Given the description of an element on the screen output the (x, y) to click on. 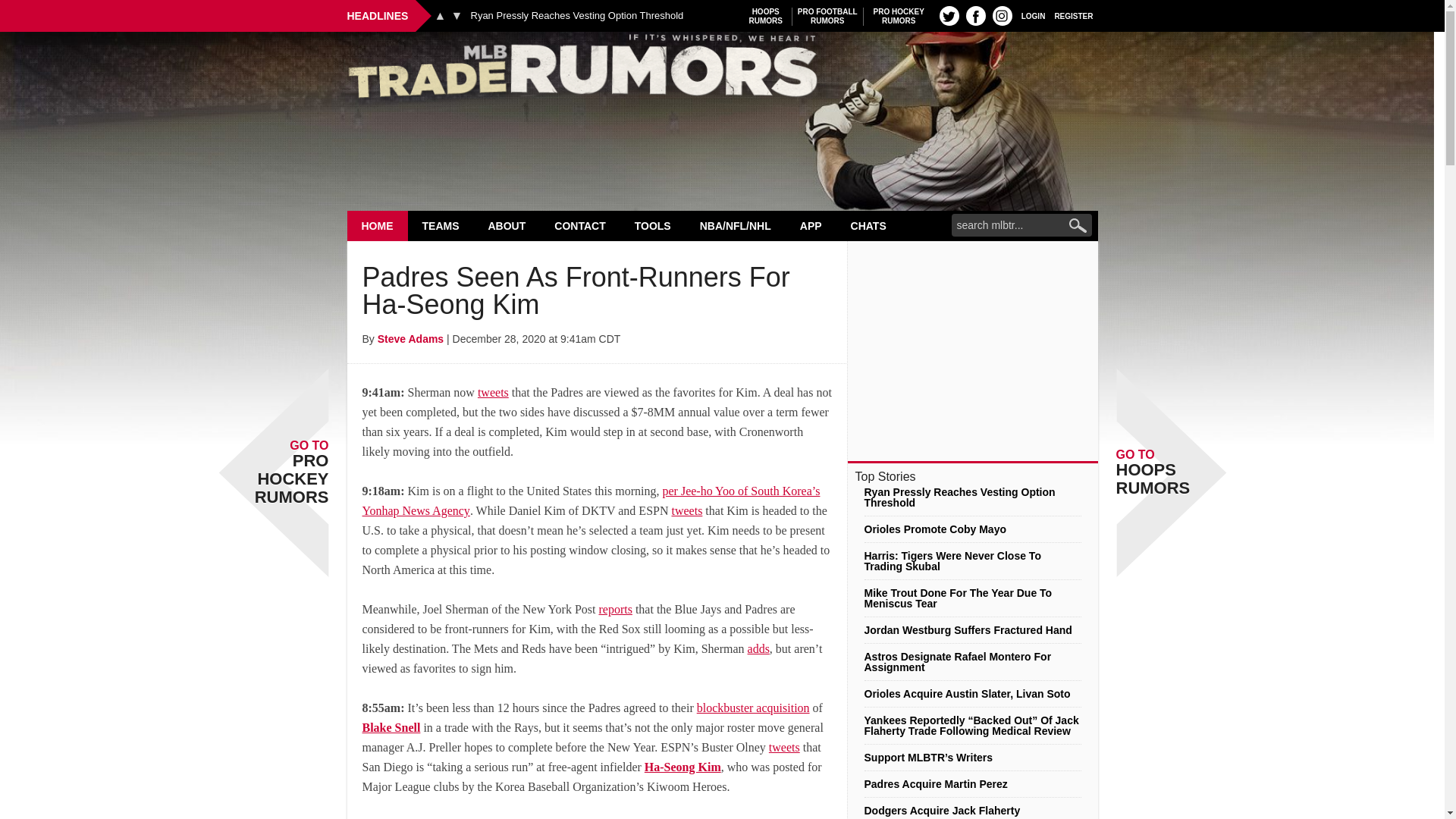
Twitter profile (949, 15)
HOME (377, 225)
REGISTER (765, 16)
Instagram profile (1073, 15)
LOGIN (1001, 15)
MLB Trade Rumors (1032, 15)
Next (722, 69)
Ryan Pressly Reaches Vesting Option Threshold (456, 15)
TEAMS (576, 15)
FB profile (440, 225)
Search (827, 16)
Previous (975, 15)
